Given the description of an element on the screen output the (x, y) to click on. 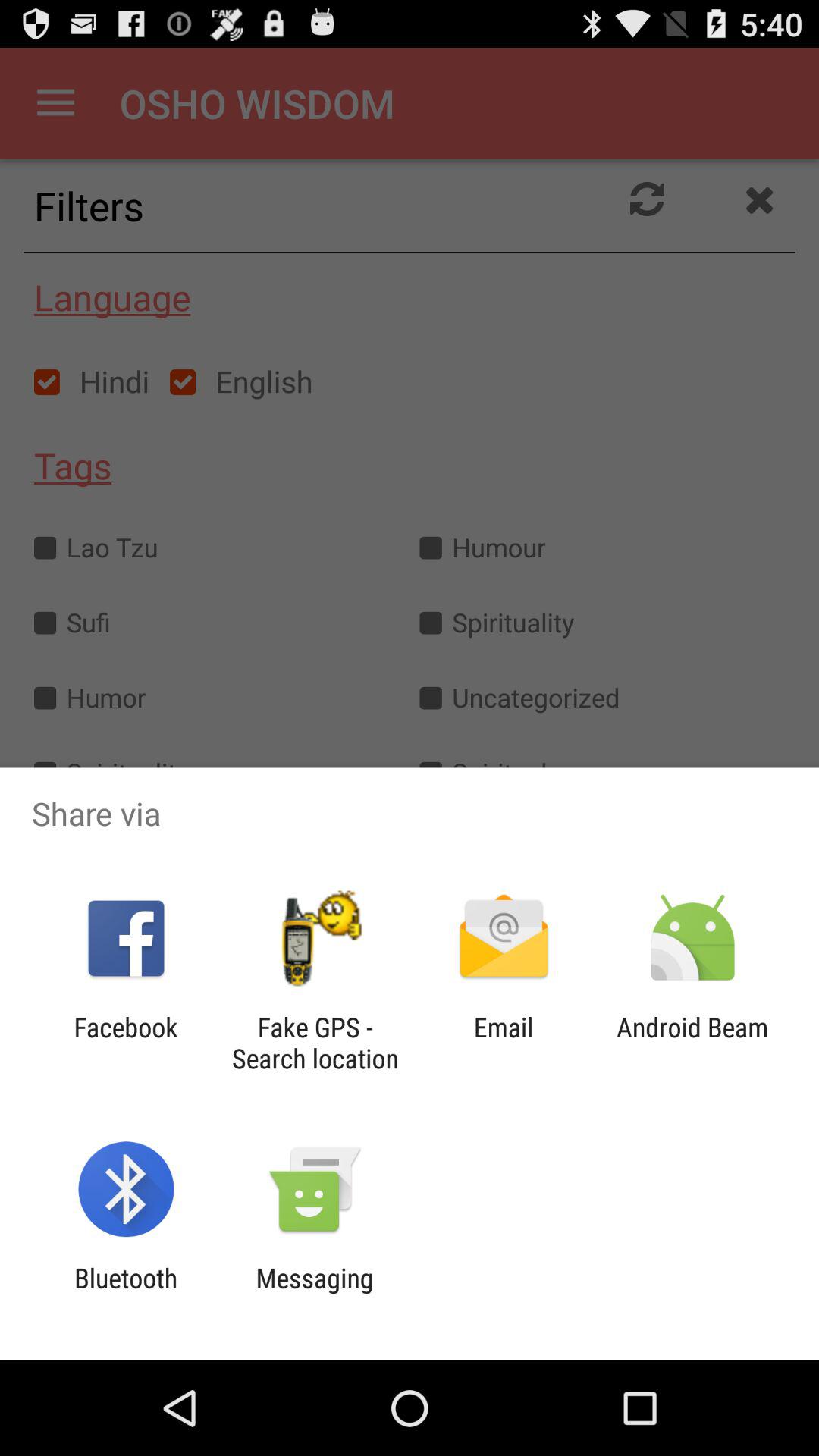
open icon next to facebook icon (314, 1042)
